Given the description of an element on the screen output the (x, y) to click on. 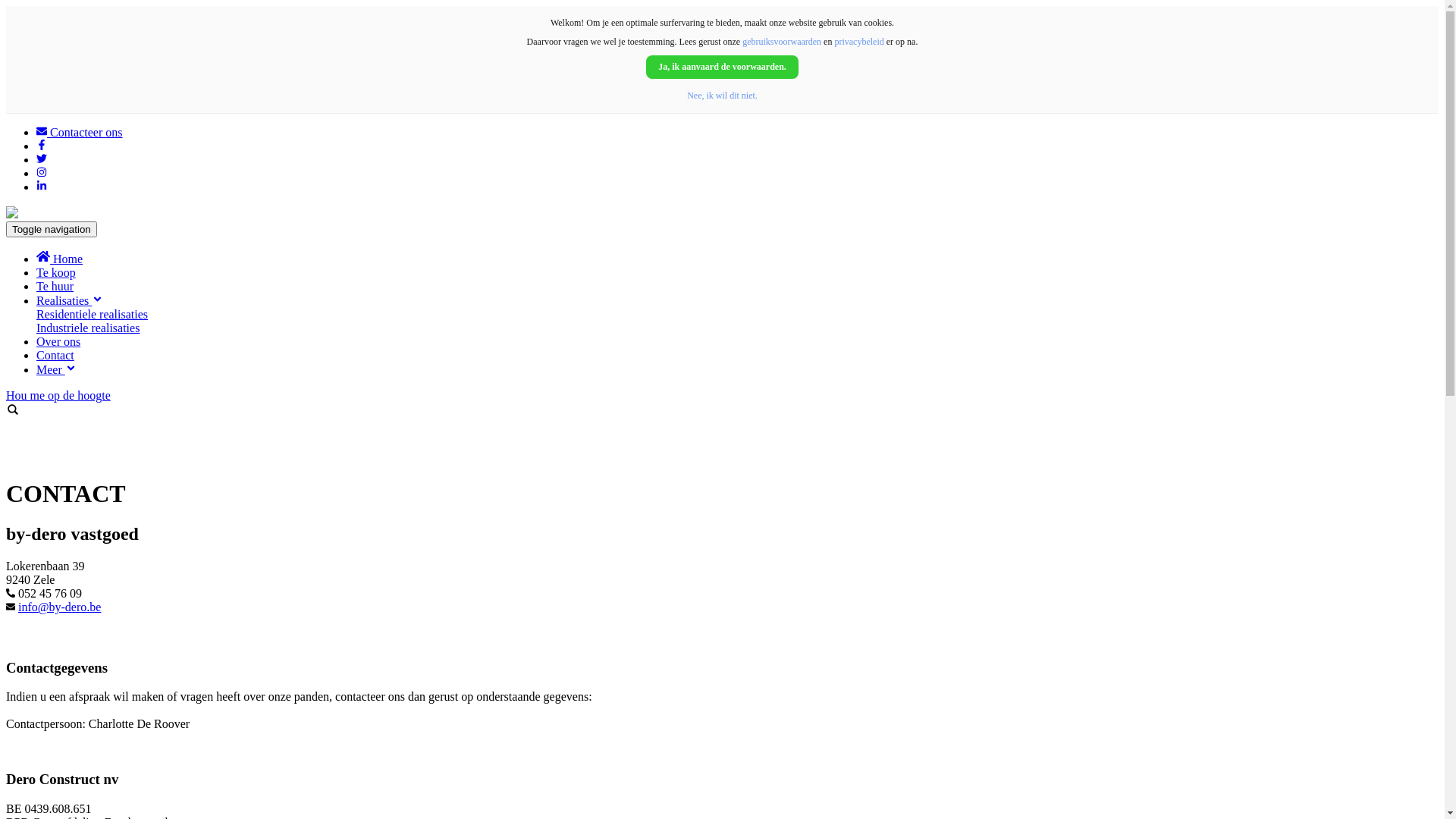
Te koop Element type: text (55, 272)
Hou me op de hoogte Element type: text (722, 404)
Toggle navigation Element type: text (51, 229)
Contact Element type: text (55, 354)
Meer Element type: text (56, 369)
Te huur Element type: text (54, 285)
Industriele realisaties Element type: text (87, 327)
Residentiele realisaties Element type: text (91, 313)
gebruiksvoorwaarden Element type: text (781, 41)
info@by-dero.be Element type: text (59, 606)
Home Element type: text (59, 258)
privacybeleid Element type: text (858, 41)
Over ons Element type: text (58, 341)
Realisaties Element type: text (69, 300)
Ja, ik aanvaard de voorwaarden. Element type: text (722, 66)
Contacteer ons Element type: text (79, 131)
Nee, ik wil dit niet. Element type: text (722, 95)
